Given the description of an element on the screen output the (x, y) to click on. 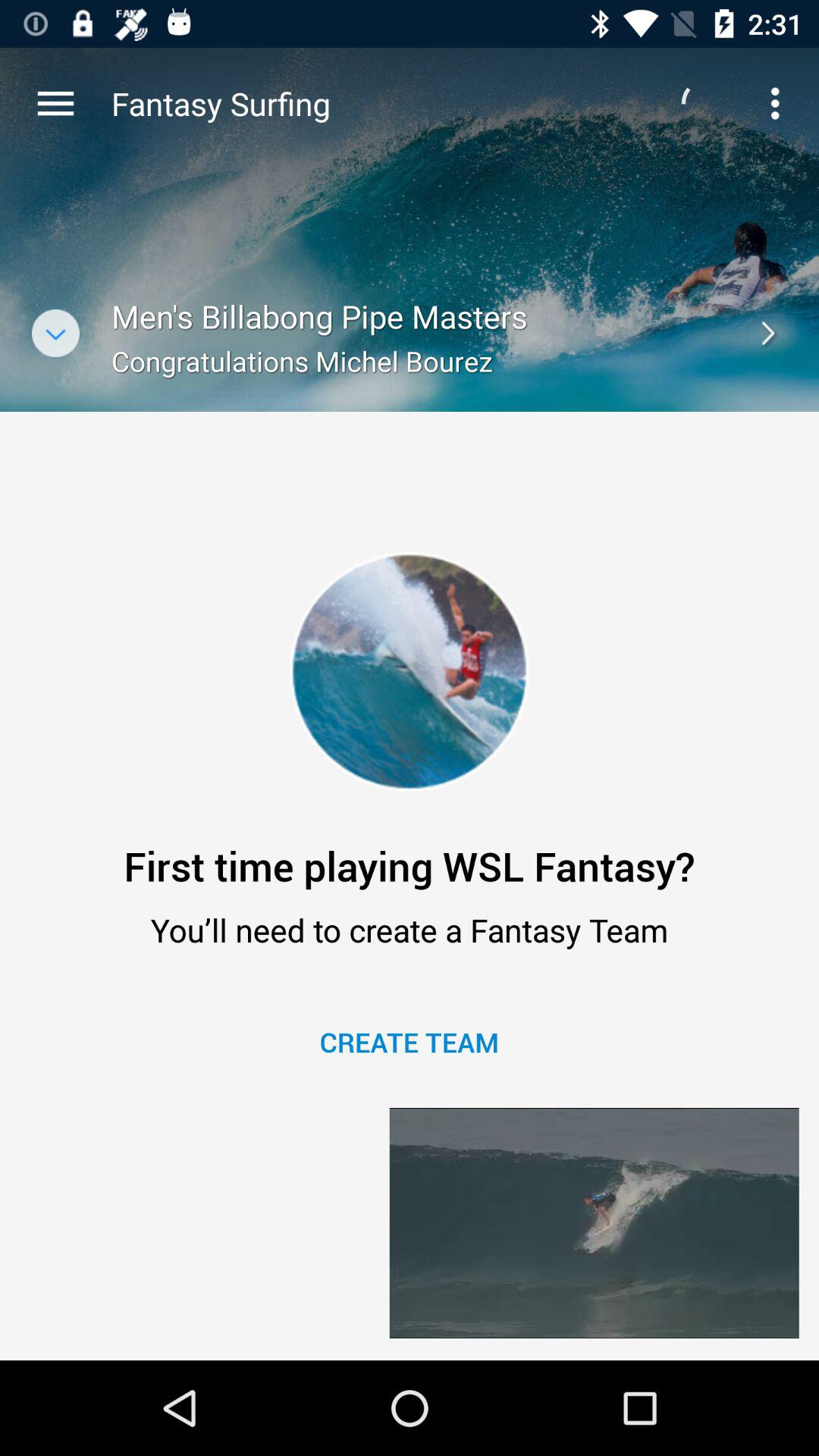
click to the more information (55, 333)
